Given the description of an element on the screen output the (x, y) to click on. 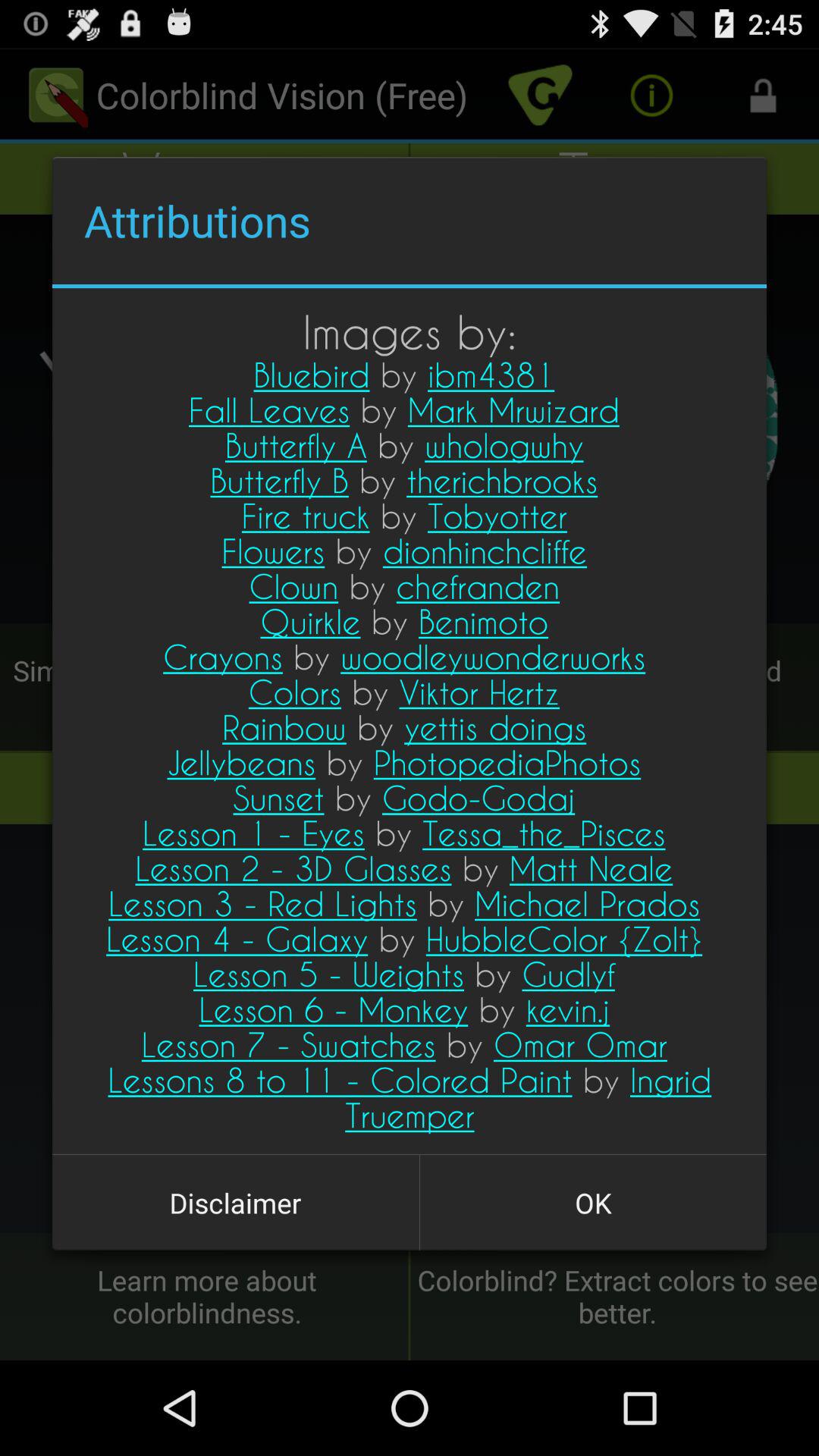
select button next to disclaimer item (593, 1202)
